Given the description of an element on the screen output the (x, y) to click on. 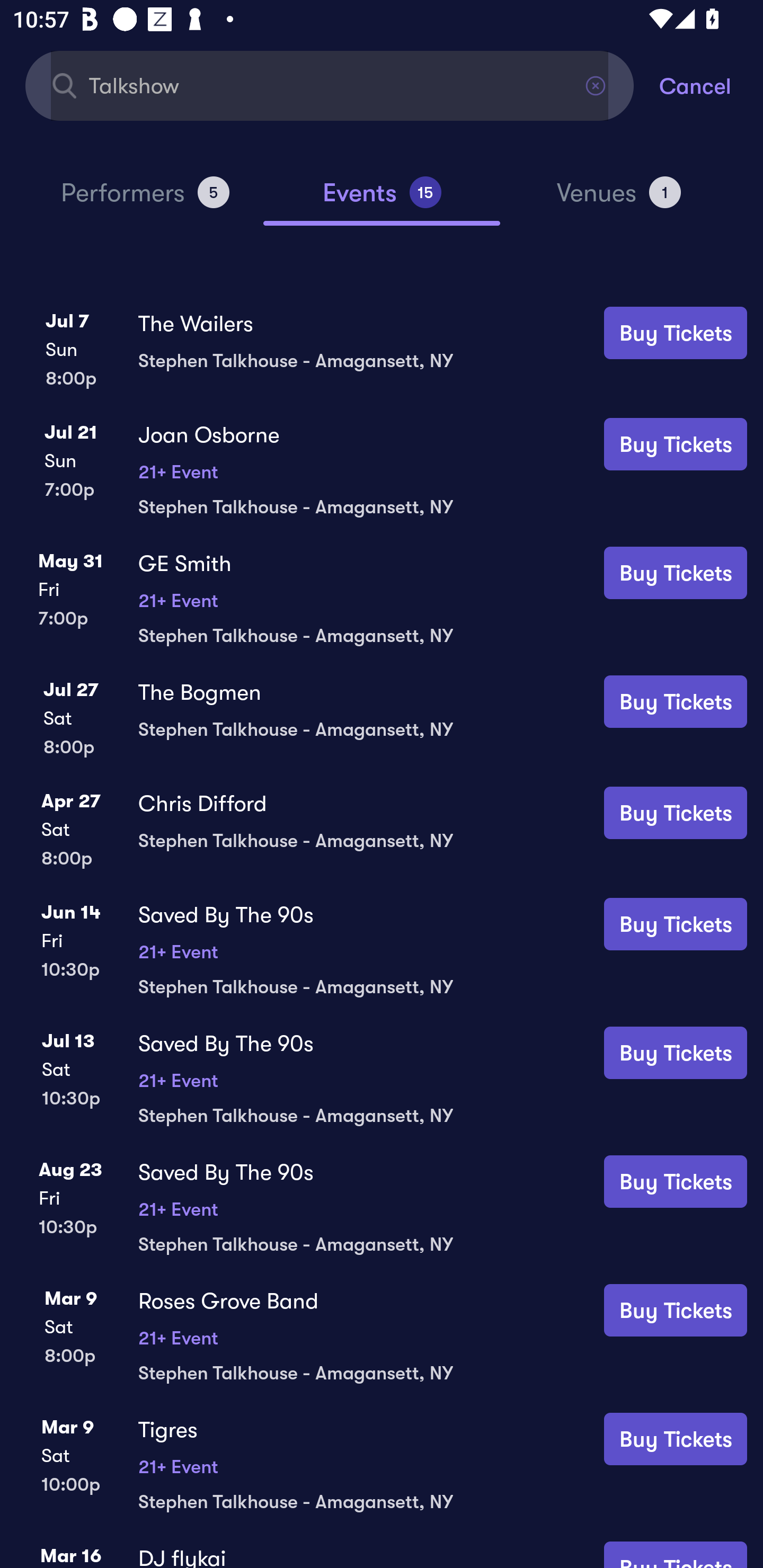
Talkshow Find (329, 85)
Talkshow Find (329, 85)
Cancel (711, 85)
Performers 5 (144, 200)
Events 15 (381, 200)
Venues 1 (618, 200)
